Given the description of an element on the screen output the (x, y) to click on. 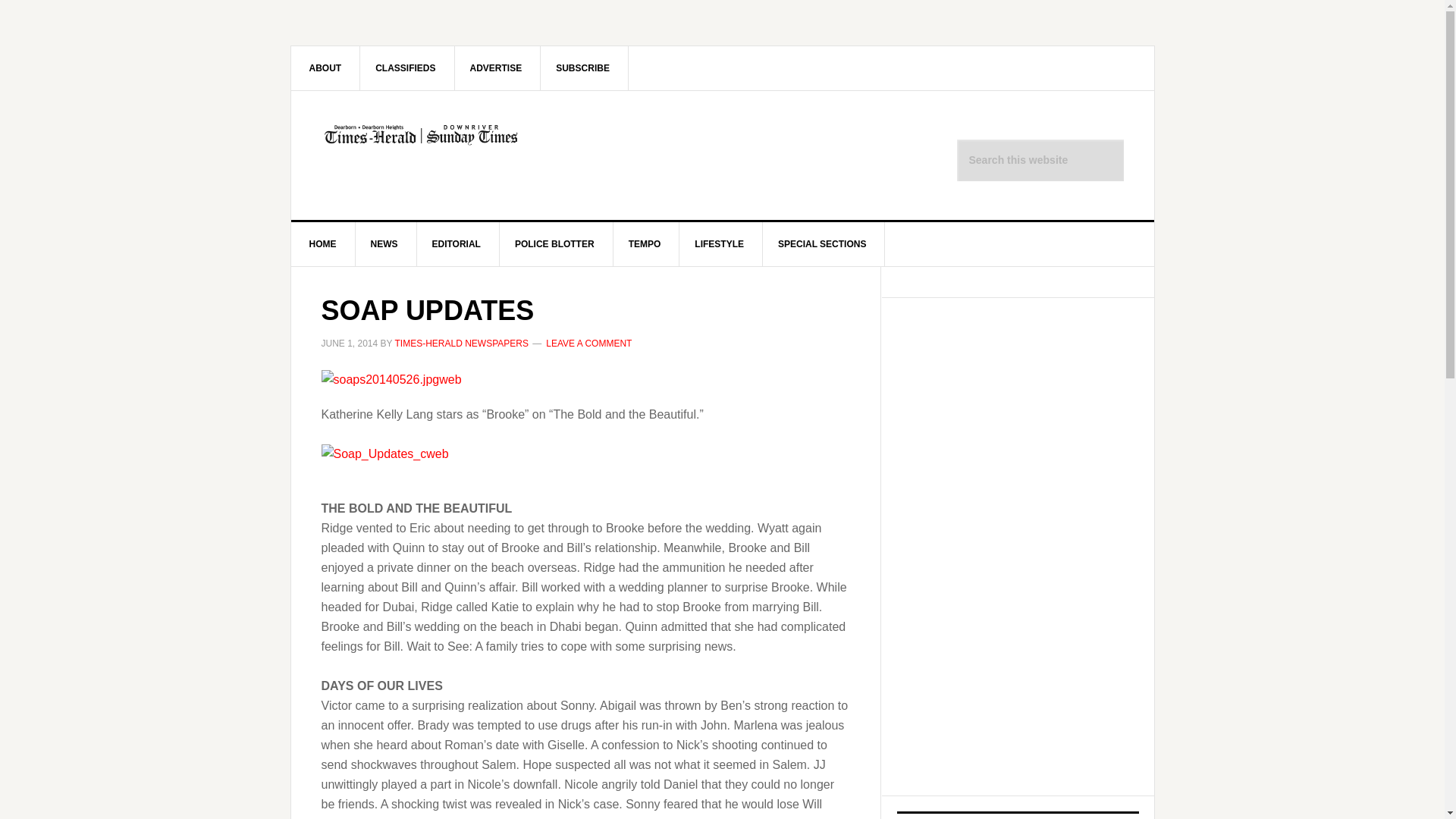
ADVERTISE (496, 67)
POLICE BLOTTER (554, 243)
SPECIAL SECTIONS (822, 243)
ABOUT (326, 67)
EDITORIAL (456, 243)
NEWS (384, 243)
Advertisement (1010, 660)
TIMES-HERALD NEWSPAPERS (460, 343)
TEMPO (644, 243)
TIMES-HERALD AND SUNDAY TIMES NEWSPAPERS (419, 155)
LEAVE A COMMENT (588, 343)
HOME (323, 243)
CLASSIFIEDS (405, 67)
